Given the description of an element on the screen output the (x, y) to click on. 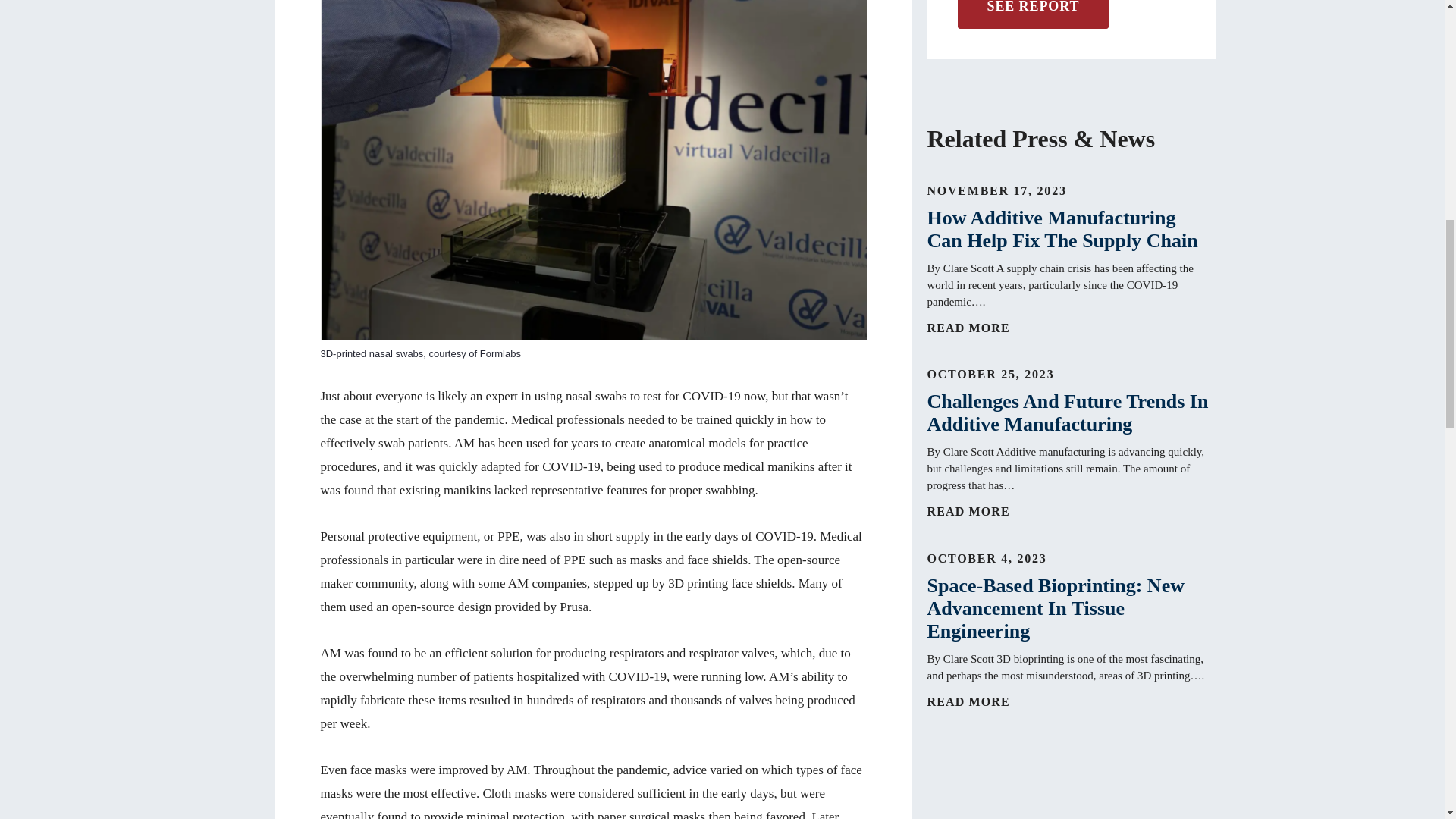
READ MORE (980, 511)
READ MORE (980, 327)
Challenges And Future Trends In Additive Manufacturing (1070, 412)
How Additive Manufacturing Can Help Fix The Supply Chain (1070, 229)
SEE REPORT (1032, 14)
